Given the description of an element on the screen output the (x, y) to click on. 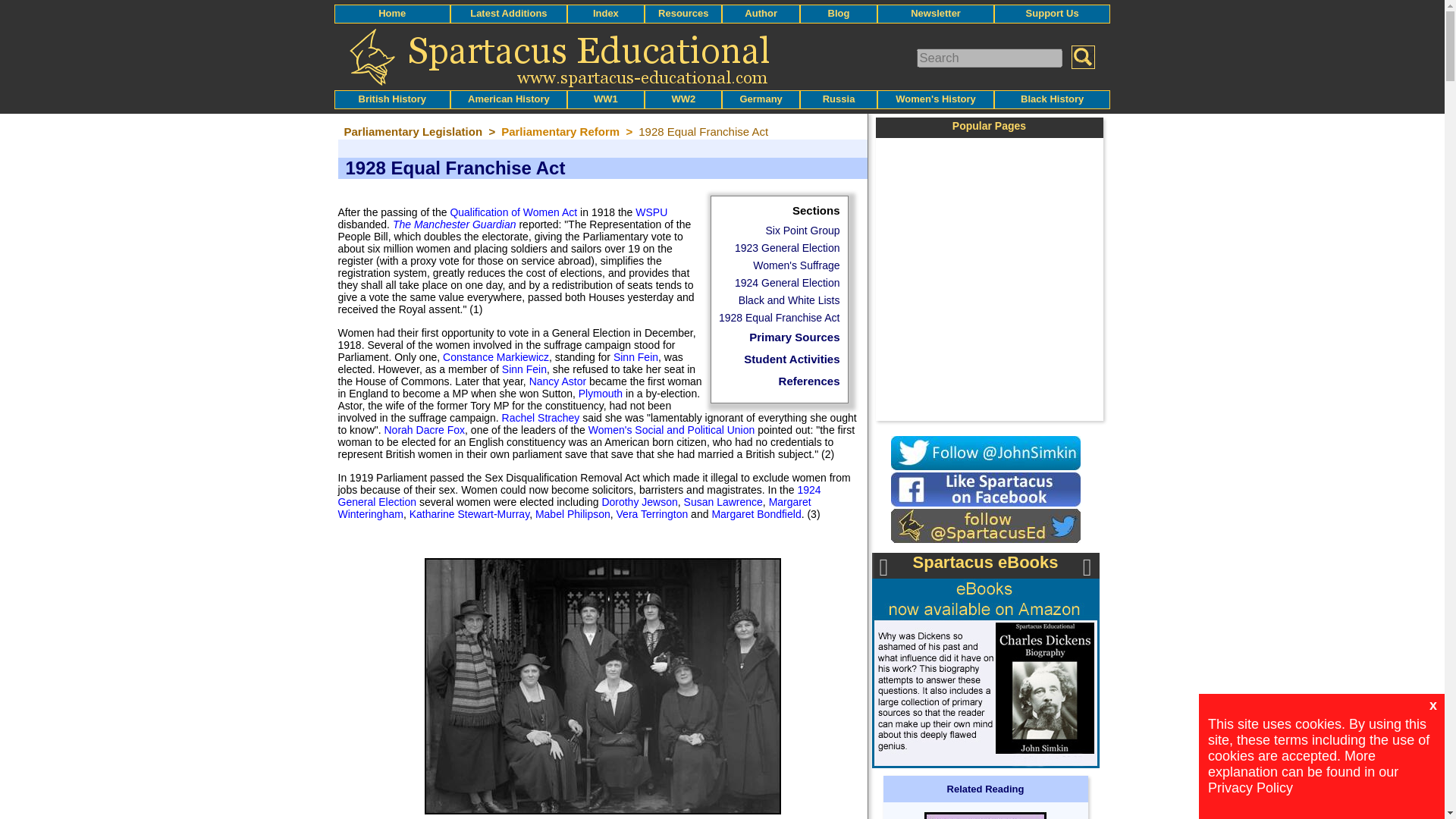
American History (508, 98)
WW2 (683, 98)
Home (392, 12)
Six Point Group (802, 230)
WSPU (650, 212)
Germany (760, 98)
British History (392, 98)
Women's History (935, 98)
Student Activities (792, 358)
Author (760, 12)
